Given the description of an element on the screen output the (x, y) to click on. 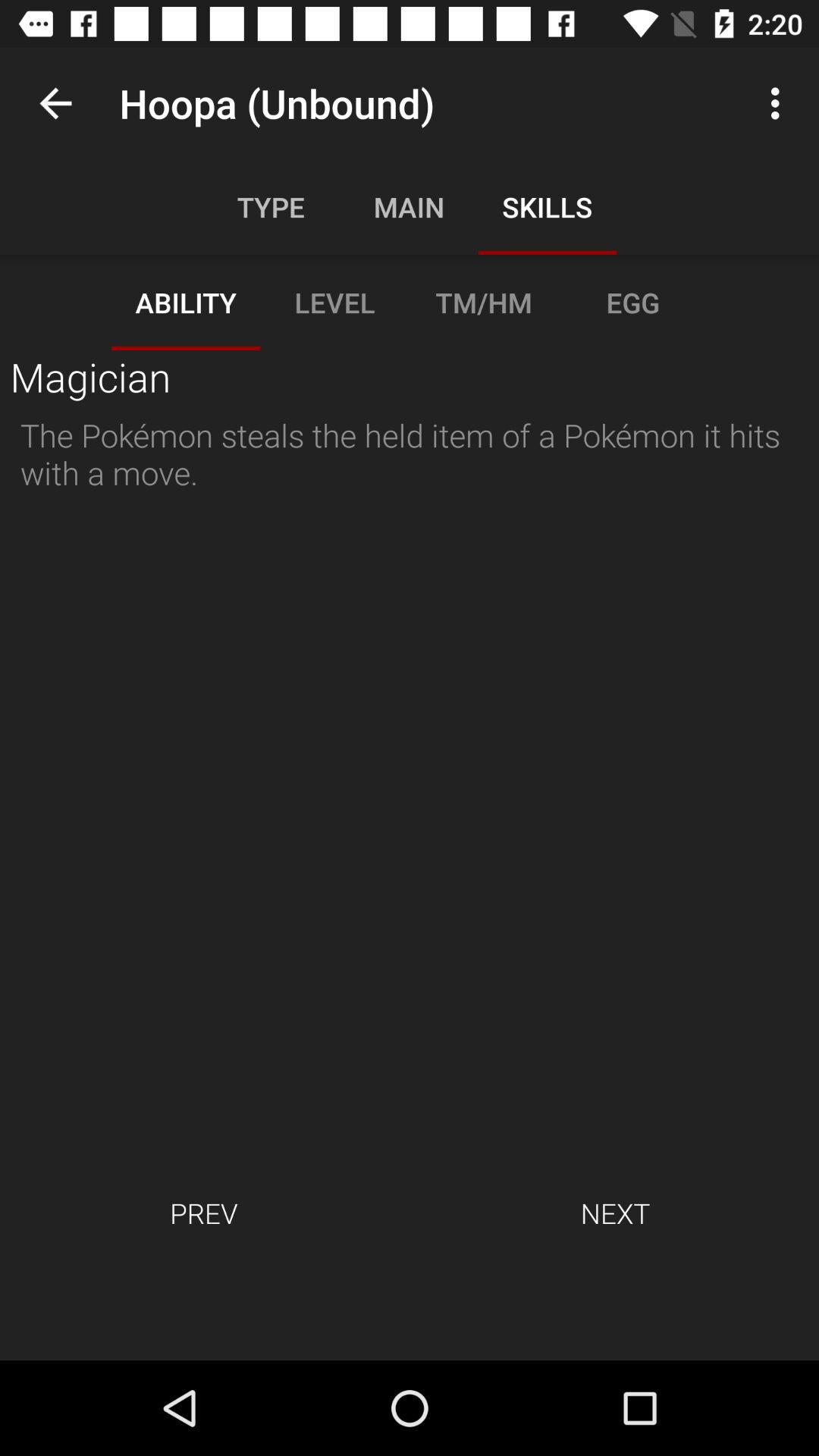
choose item at the bottom left corner (203, 1212)
